Given the description of an element on the screen output the (x, y) to click on. 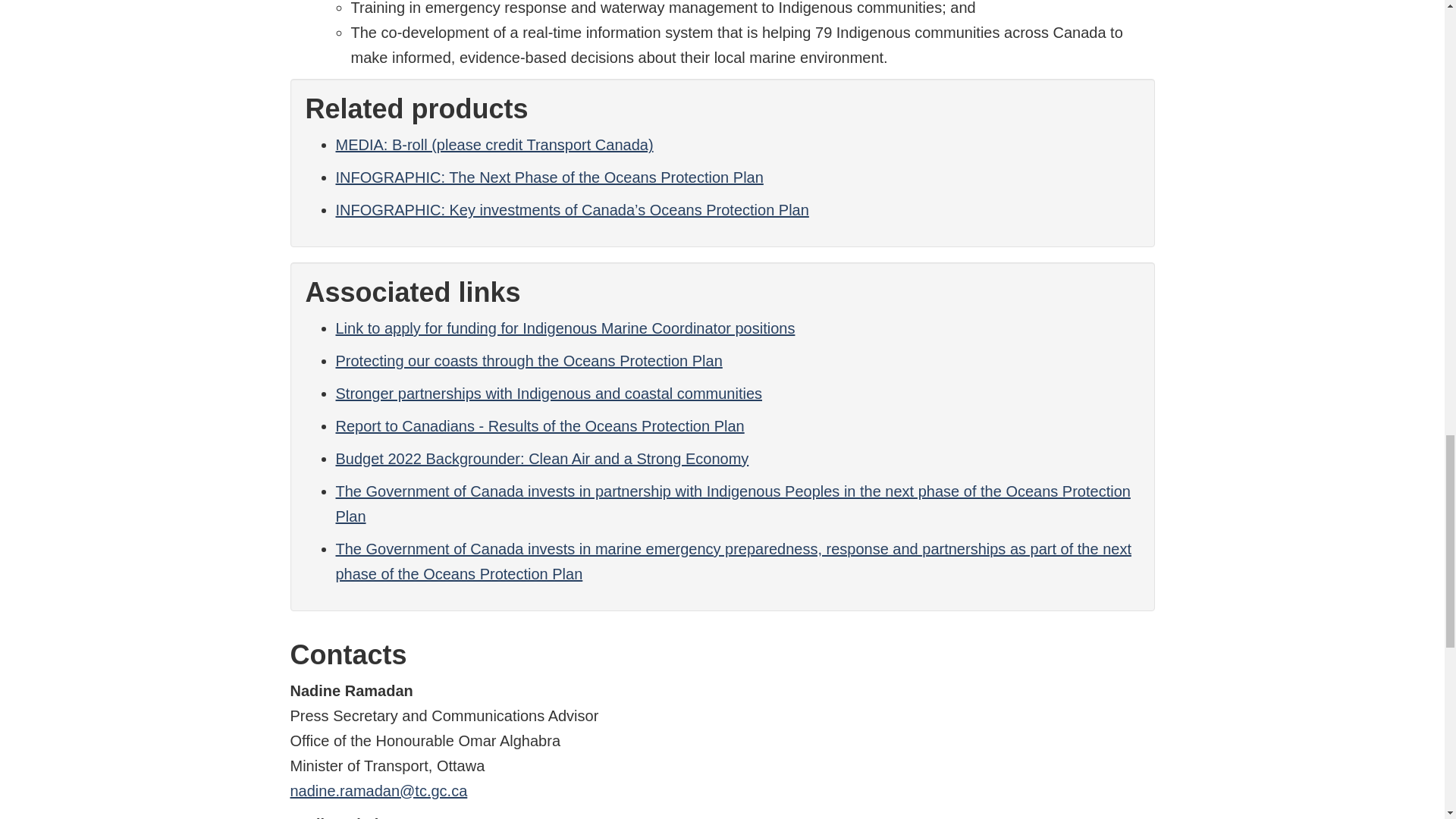
Budget 2022 Backgrounder: Clean Air and a Strong Economy (541, 458)
Budget 2022 Backgrounder: Clean Air and a Strong Economy (541, 458)
INFOGRAPHIC: The Next Phase of the Oceans Protection Plan (548, 176)
Protecting our coasts through the Oceans Protection Plan (528, 360)
Report to Canadians - Results of the Oceans Protection Plan (539, 425)
